Given the description of an element on the screen output the (x, y) to click on. 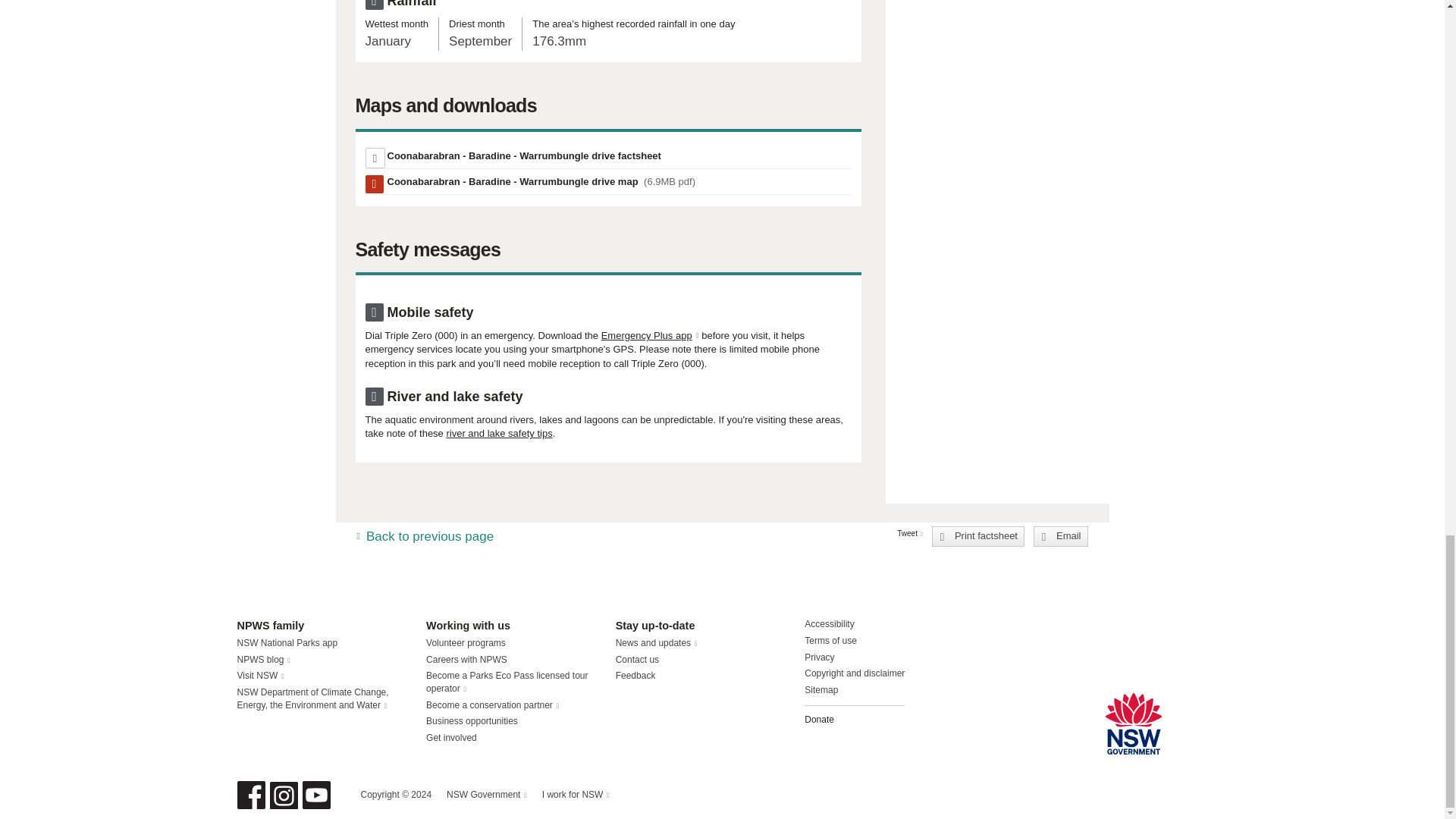
Visit NSW National Parks on Facebook (249, 795)
Visit NSW National Parks on Youtube (315, 795)
New South Wales Government (1133, 723)
Print-friendly version of these webpages (524, 155)
Print-friendly version of these webpages (978, 536)
Visit NSW National Parks on Instagram (283, 795)
